Given the description of an element on the screen output the (x, y) to click on. 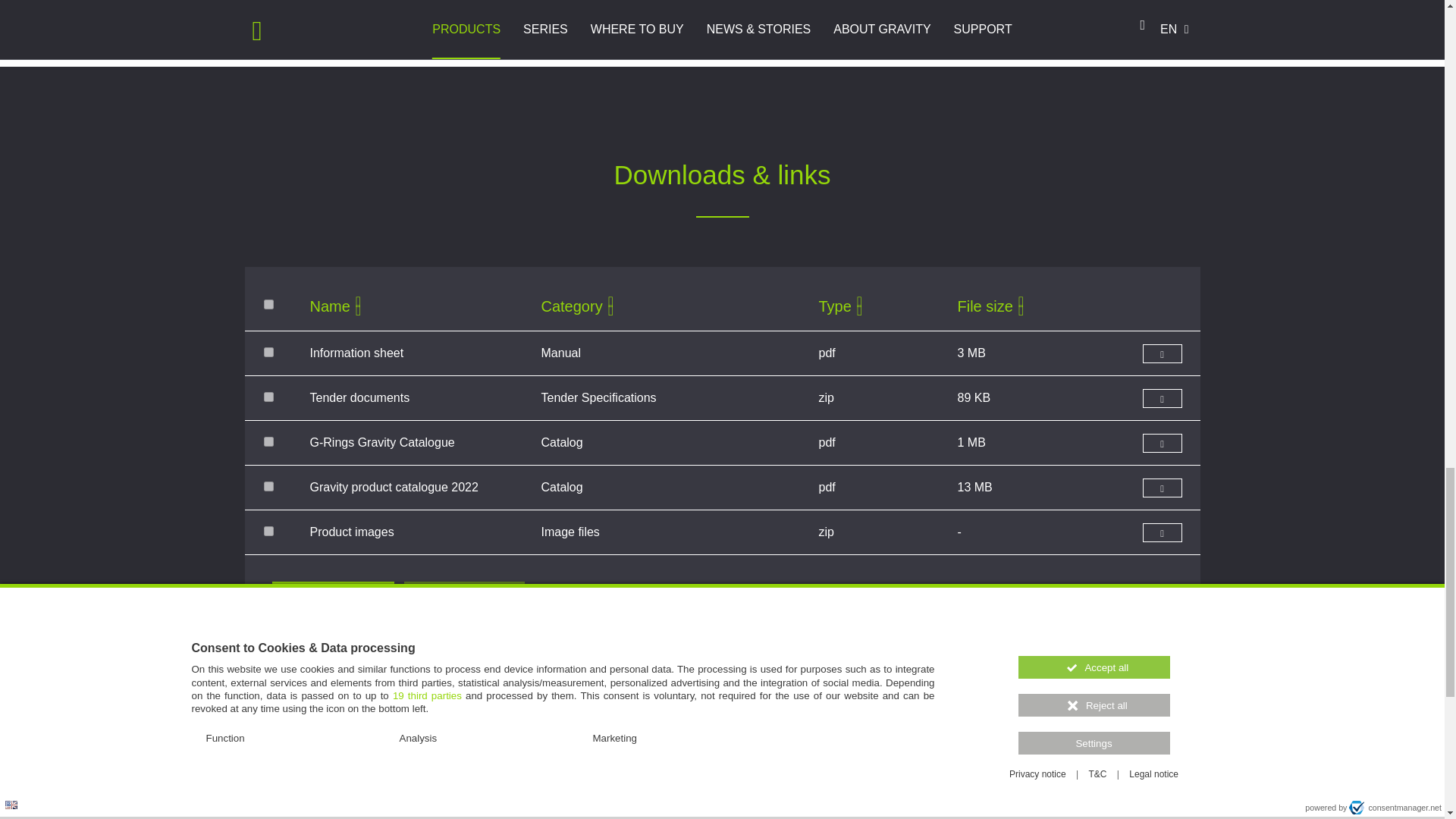
-434474975 (268, 397)
396639557 (268, 486)
1823128436 (268, 352)
-2004980531 (268, 441)
images-GSASMIF01 (268, 531)
on (268, 304)
